Given the description of an element on the screen output the (x, y) to click on. 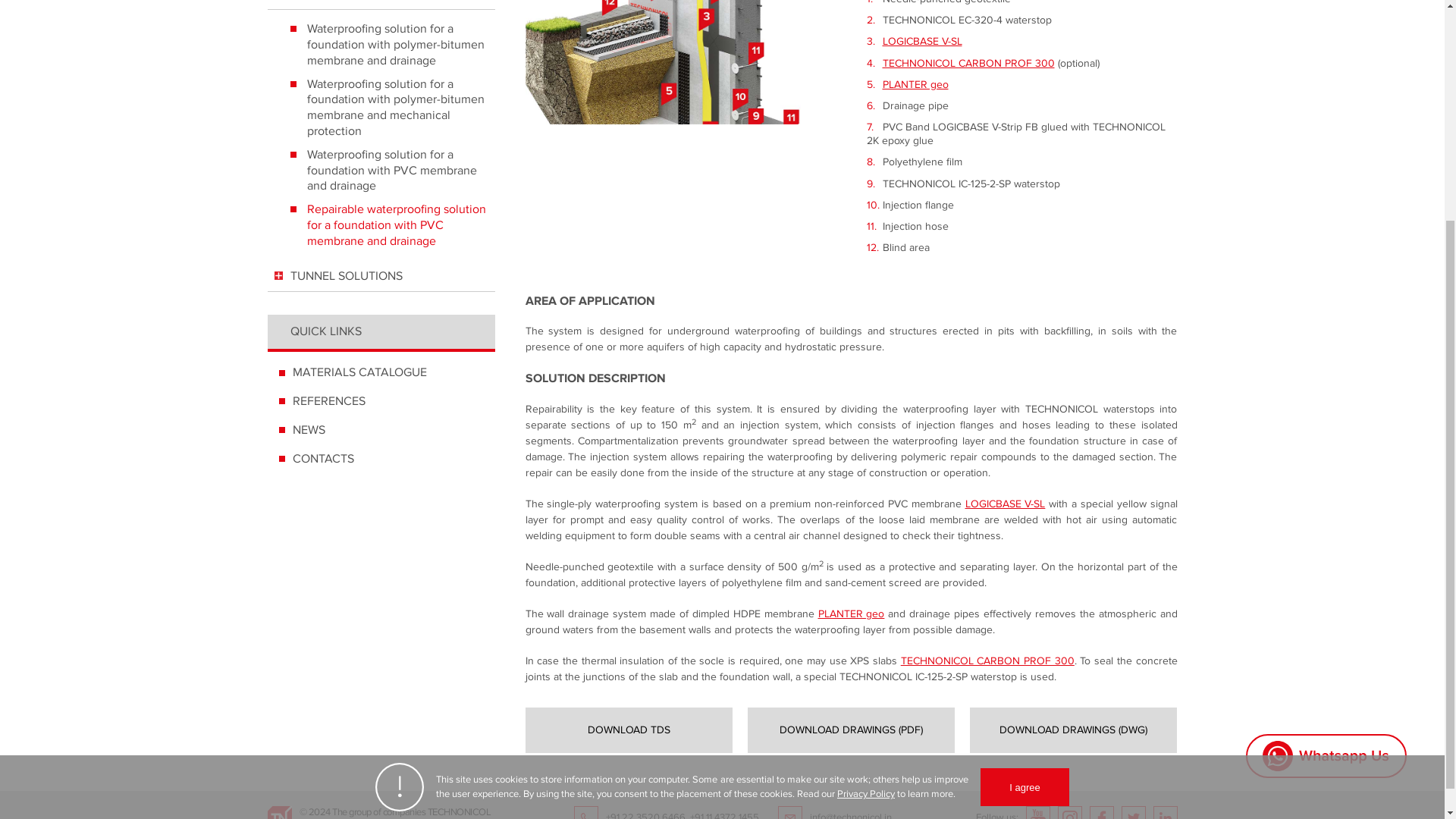
DOWNLOAD DWG (1072, 729)
DOWNLOAD PDF (851, 729)
DOWNLOAD TDS (628, 729)
I agree (1023, 484)
